Given the description of an element on the screen output the (x, y) to click on. 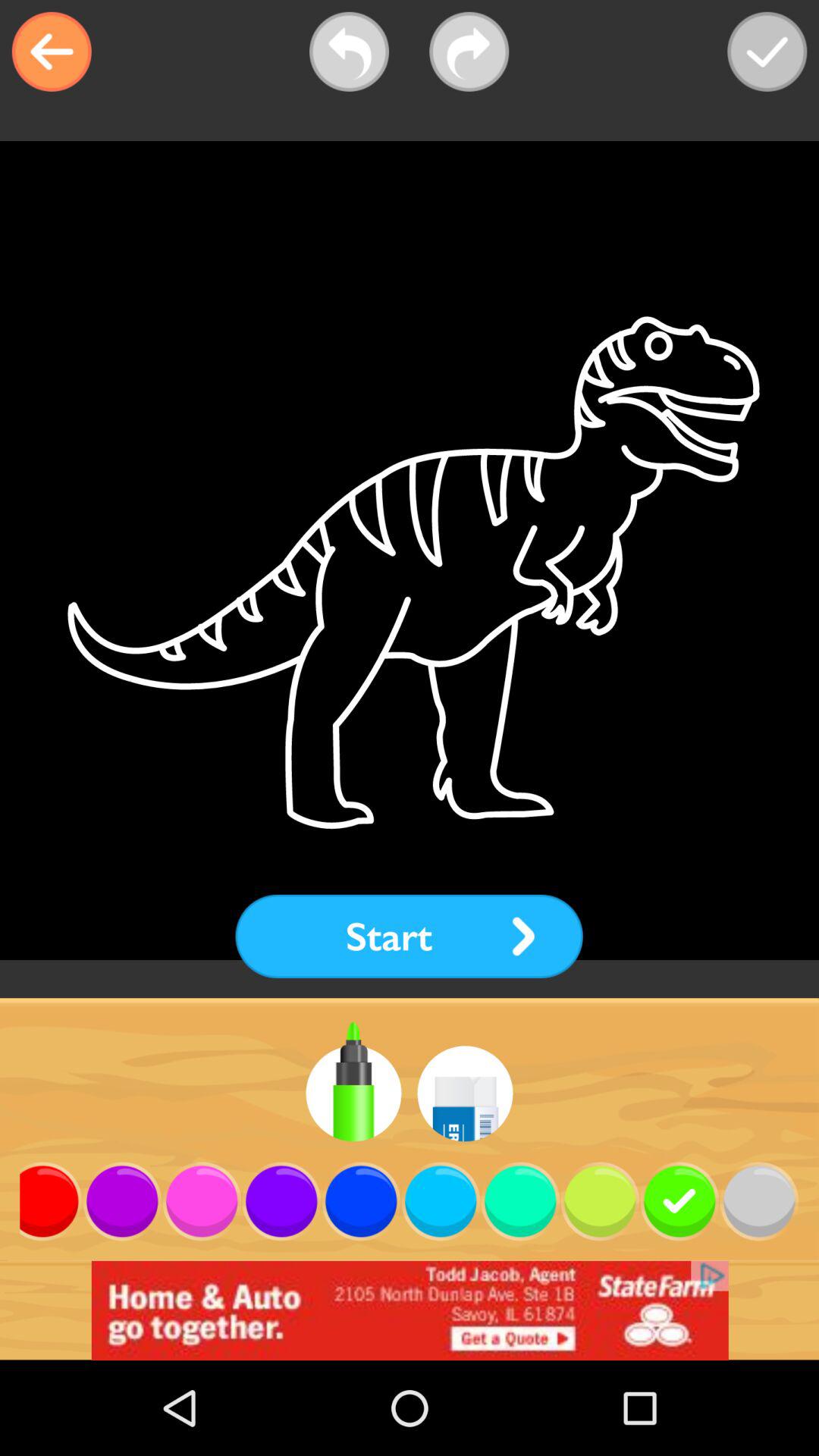
open an advertisement (409, 1310)
